Given the description of an element on the screen output the (x, y) to click on. 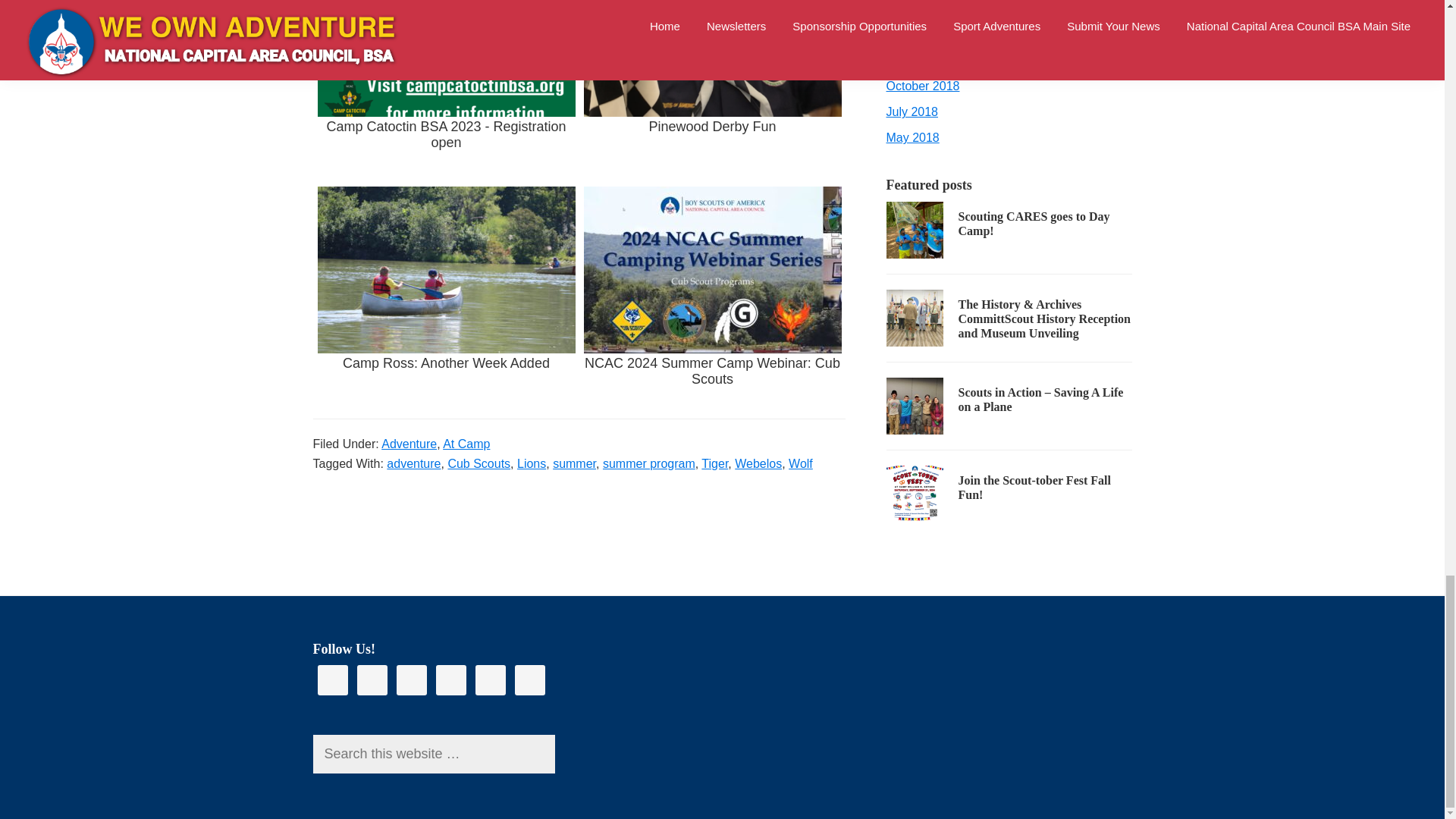
Camp Ross: Another Week Added (446, 297)
At Camp (465, 443)
Cub Scouts (478, 463)
Camp Catoctin BSA 2023 - Registration open (446, 89)
NCAC 2024 Summer Camp Webinar: Cub Scouts (712, 297)
Pinewood Derby Fun (712, 89)
Lions (531, 463)
Adventure (408, 443)
adventure (414, 463)
